Given the description of an element on the screen output the (x, y) to click on. 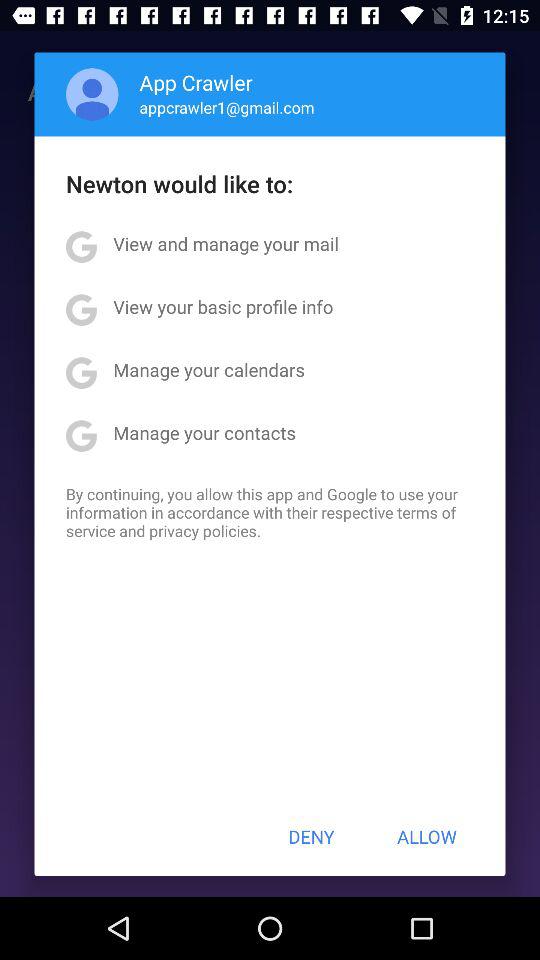
tap icon to the left of allow button (311, 836)
